Given the description of an element on the screen output the (x, y) to click on. 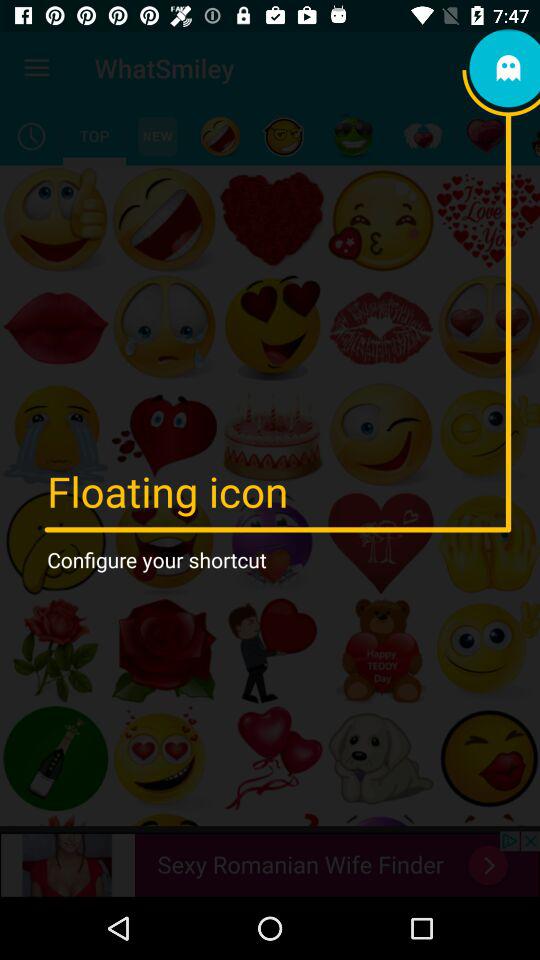
go to emoji (353, 136)
